Given the description of an element on the screen output the (x, y) to click on. 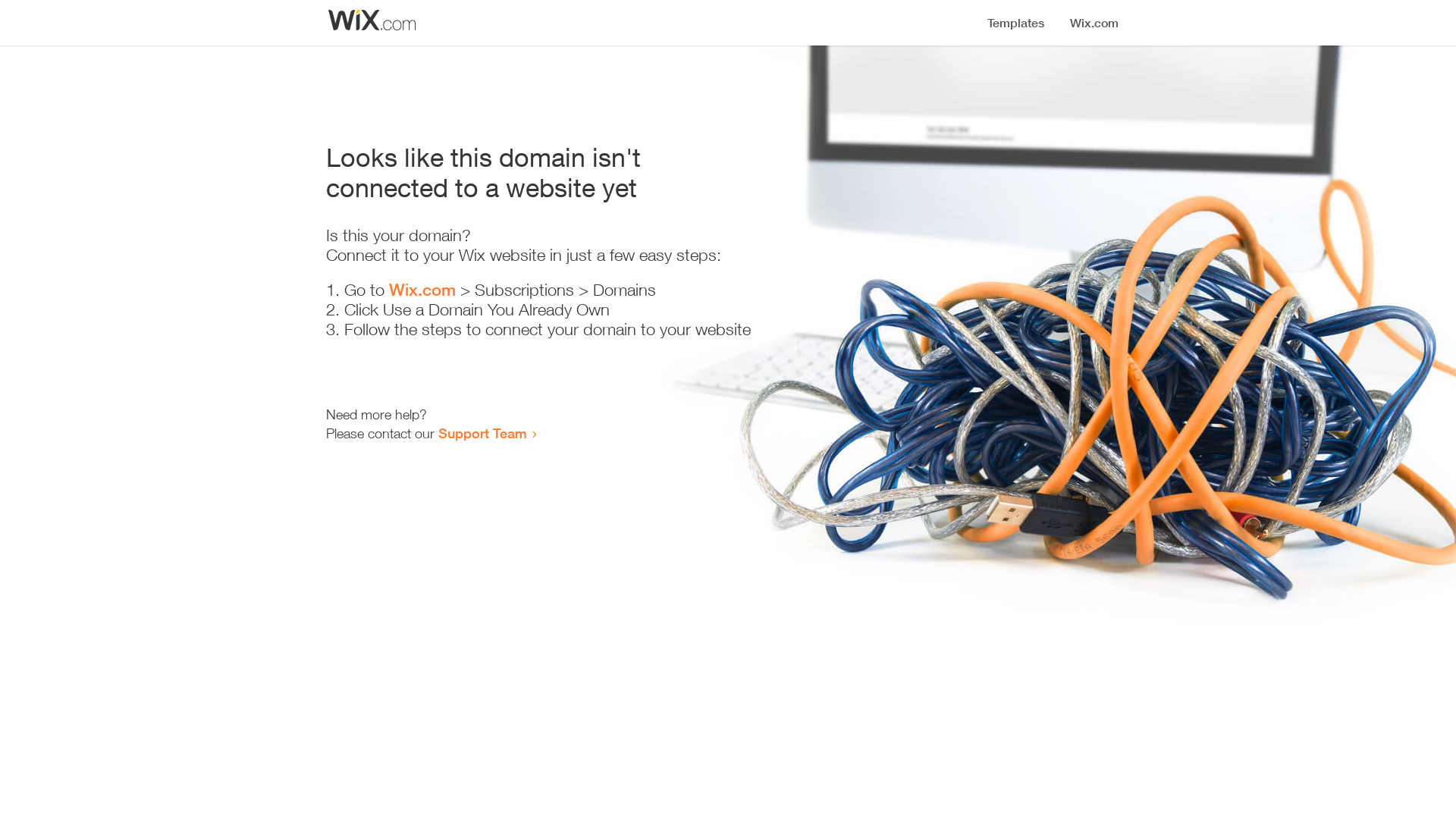
Support Team Element type: text (482, 432)
Wix.com Element type: text (422, 289)
